Given the description of an element on the screen output the (x, y) to click on. 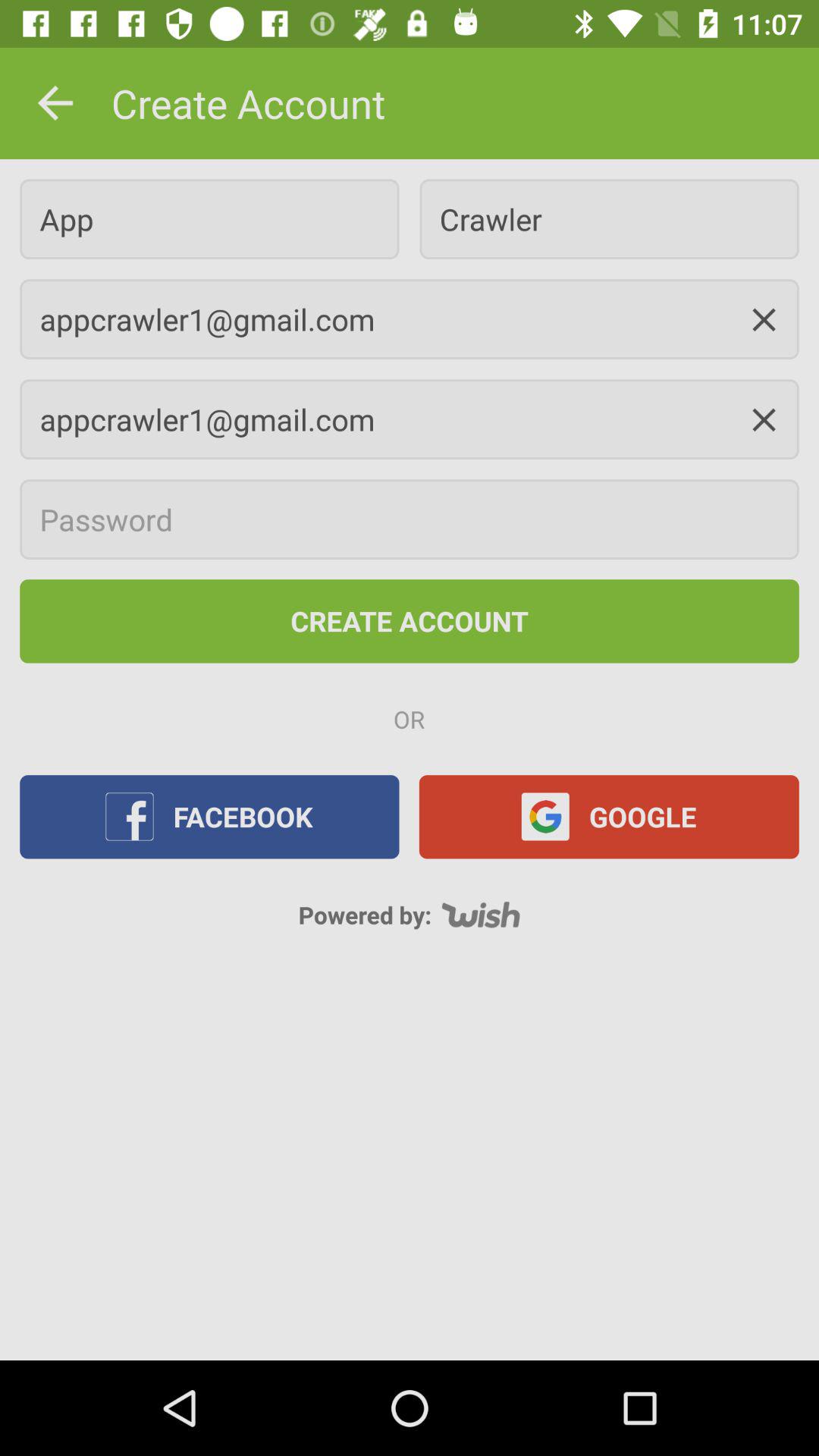
swipe to the app (209, 219)
